Given the description of an element on the screen output the (x, y) to click on. 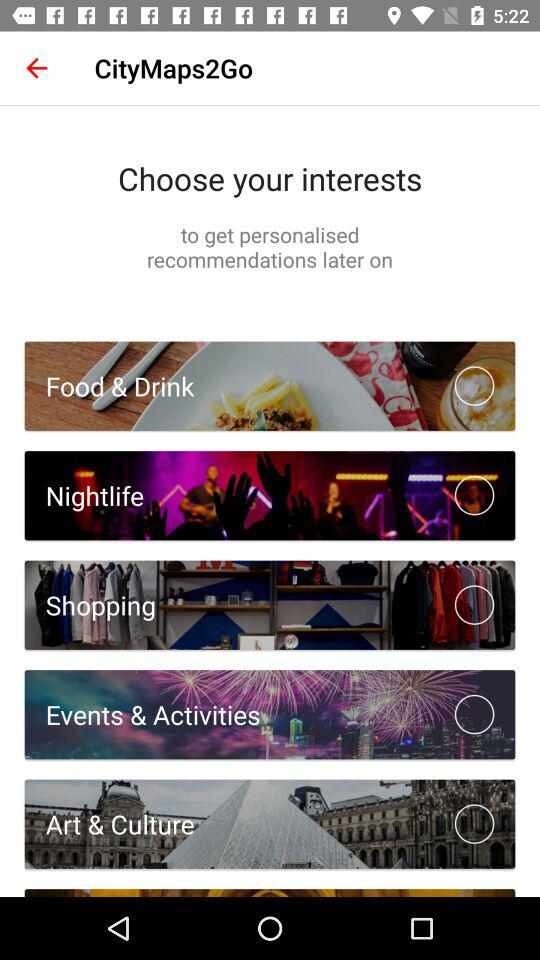
swipe until nightlife icon (84, 495)
